Given the description of an element on the screen output the (x, y) to click on. 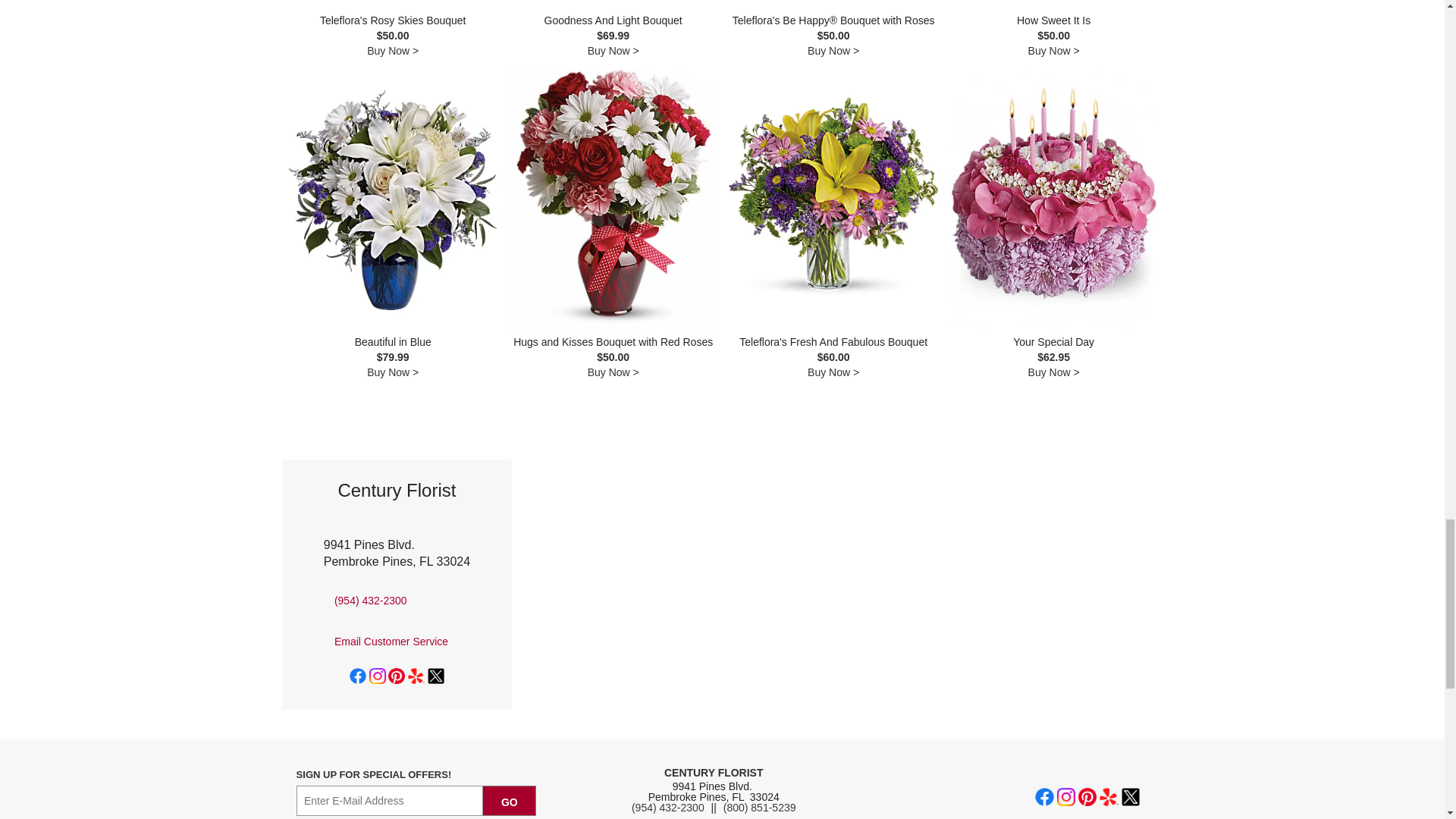
go (509, 800)
Go (509, 800)
Email Sign up (390, 800)
